Given the description of an element on the screen output the (x, y) to click on. 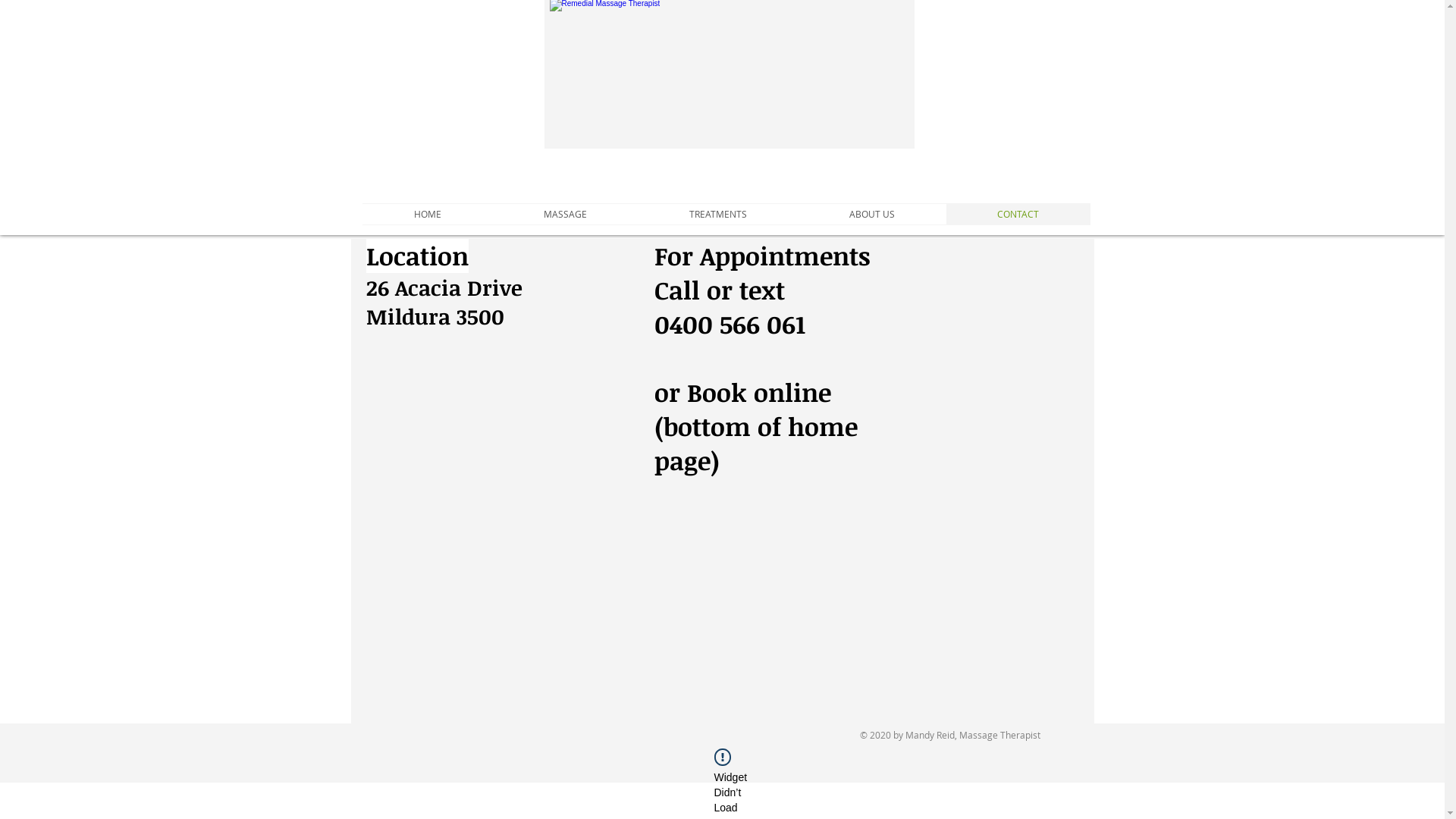
MASSAGE Element type: text (565, 213)
CONTACT Element type: text (1018, 213)
Google Maps Element type: hover (860, 610)
ABOUT US Element type: text (871, 213)
HOME Element type: text (427, 213)
TREATMENTS Element type: text (718, 213)
